Given the description of an element on the screen output the (x, y) to click on. 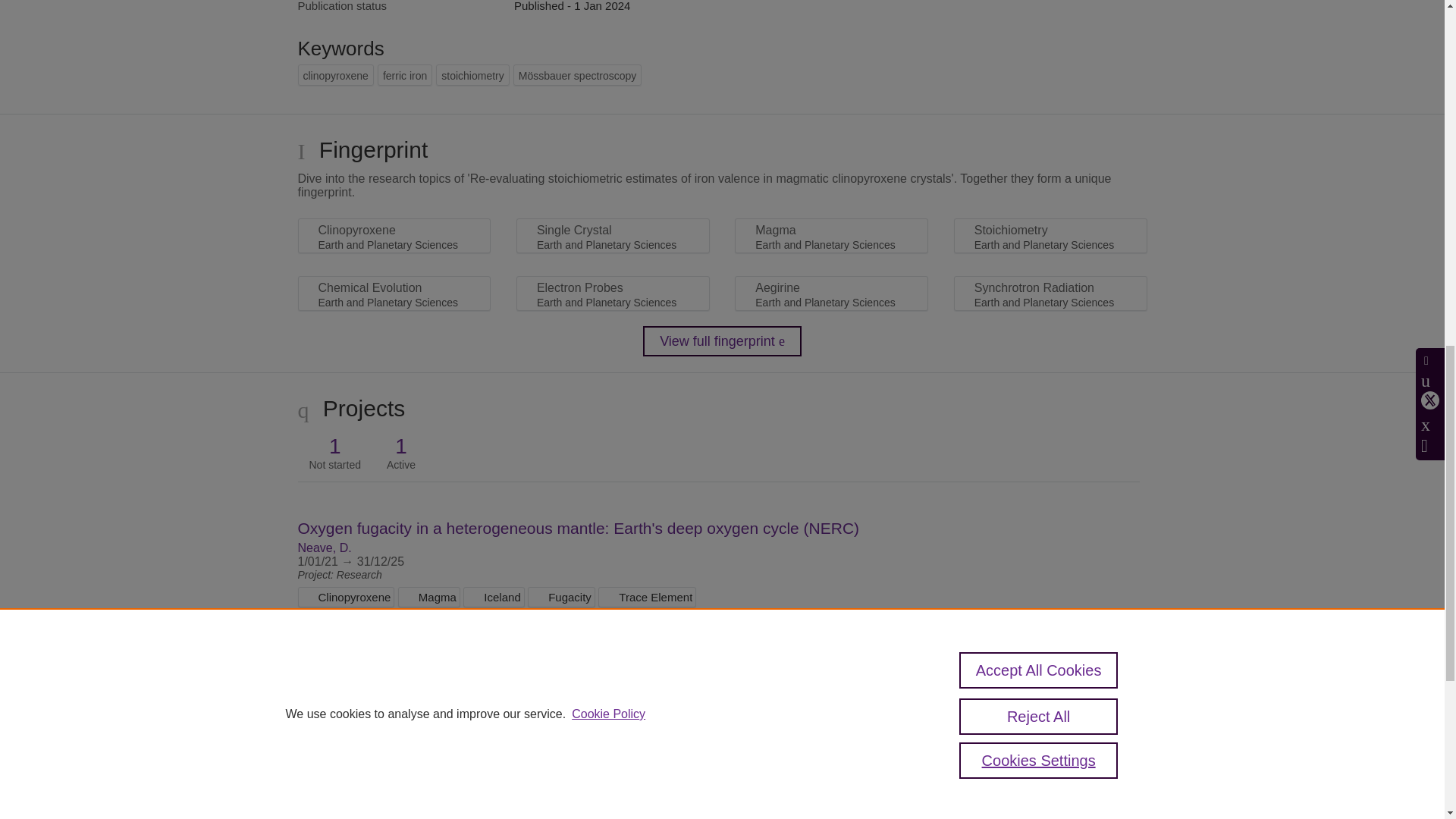
View full fingerprint (722, 340)
1 (334, 446)
